Given the description of an element on the screen output the (x, y) to click on. 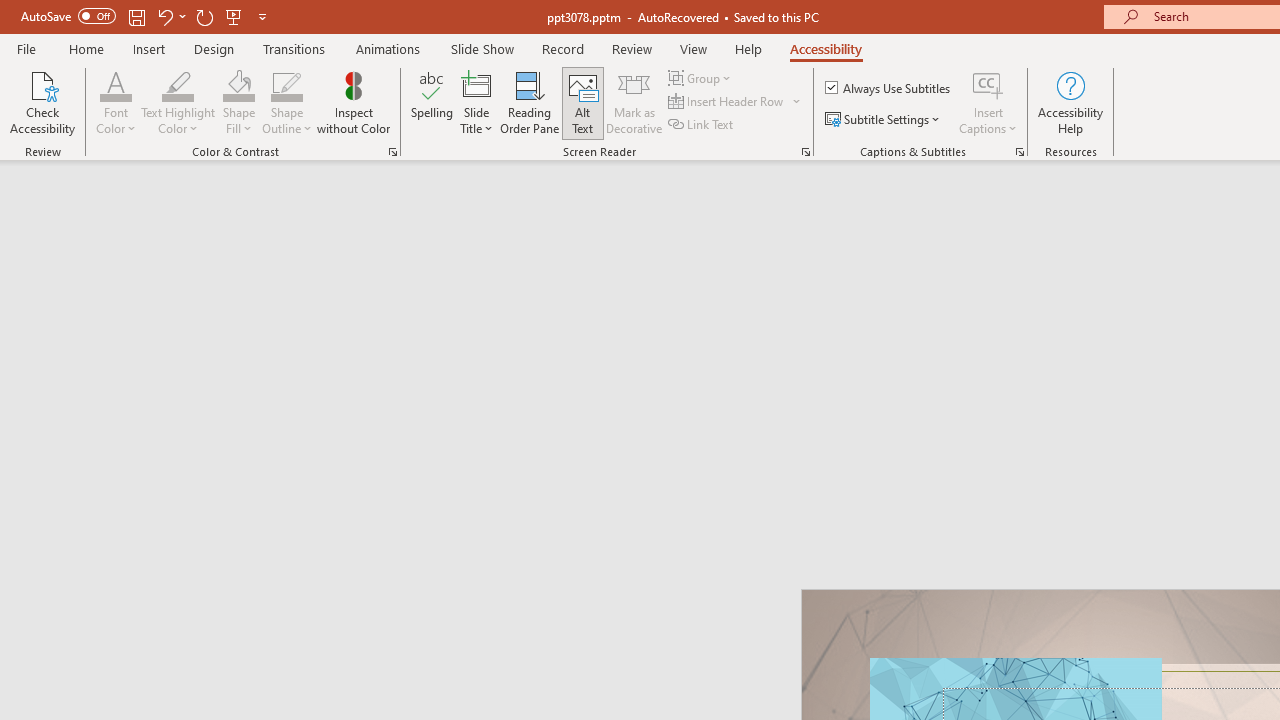
Shape Fill (238, 84)
Insert Header Row (735, 101)
Accessibility Help (1070, 102)
Link Text (702, 124)
Slide Title (476, 84)
Slide Title (476, 102)
Font Color (116, 84)
Subtitle Settings (884, 119)
